Given the description of an element on the screen output the (x, y) to click on. 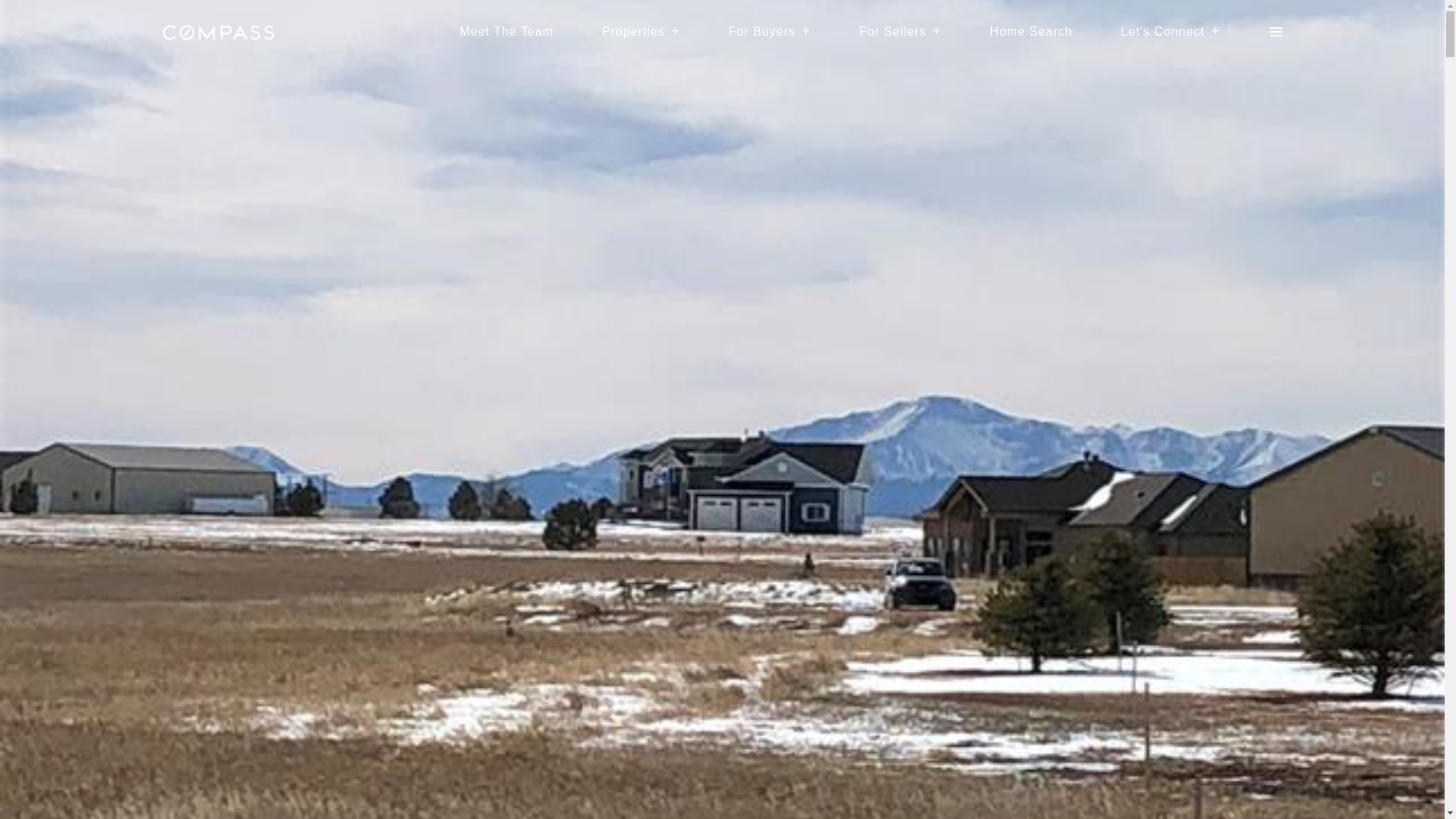
For Buyers (769, 31)
Home Search (1030, 31)
For Sellers (899, 31)
Meet The Team (506, 31)
Let'S Connect (1170, 31)
Properties (640, 31)
